Given the description of an element on the screen output the (x, y) to click on. 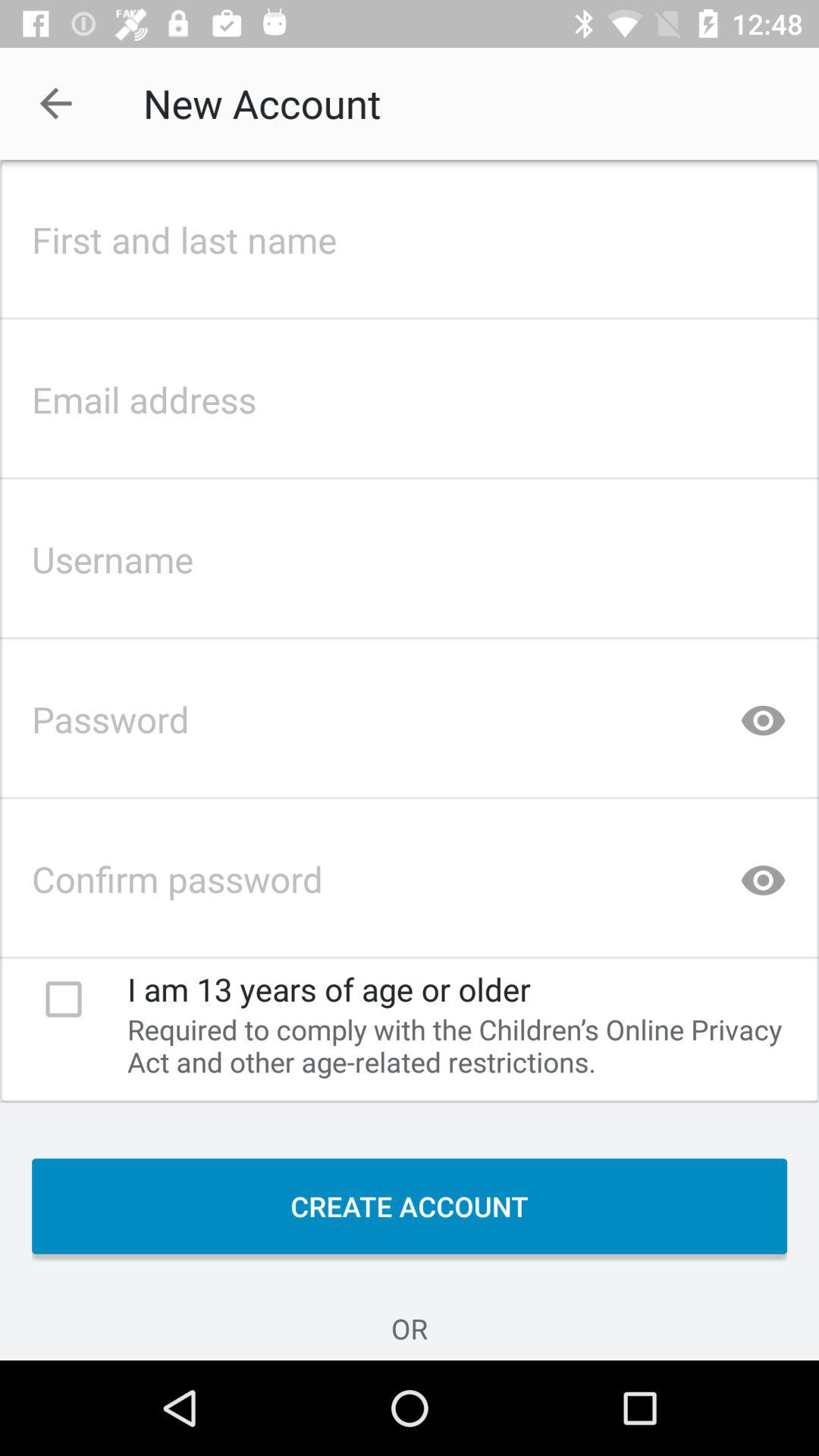
turn off icon to the left of i am 13 icon (63, 999)
